Given the description of an element on the screen output the (x, y) to click on. 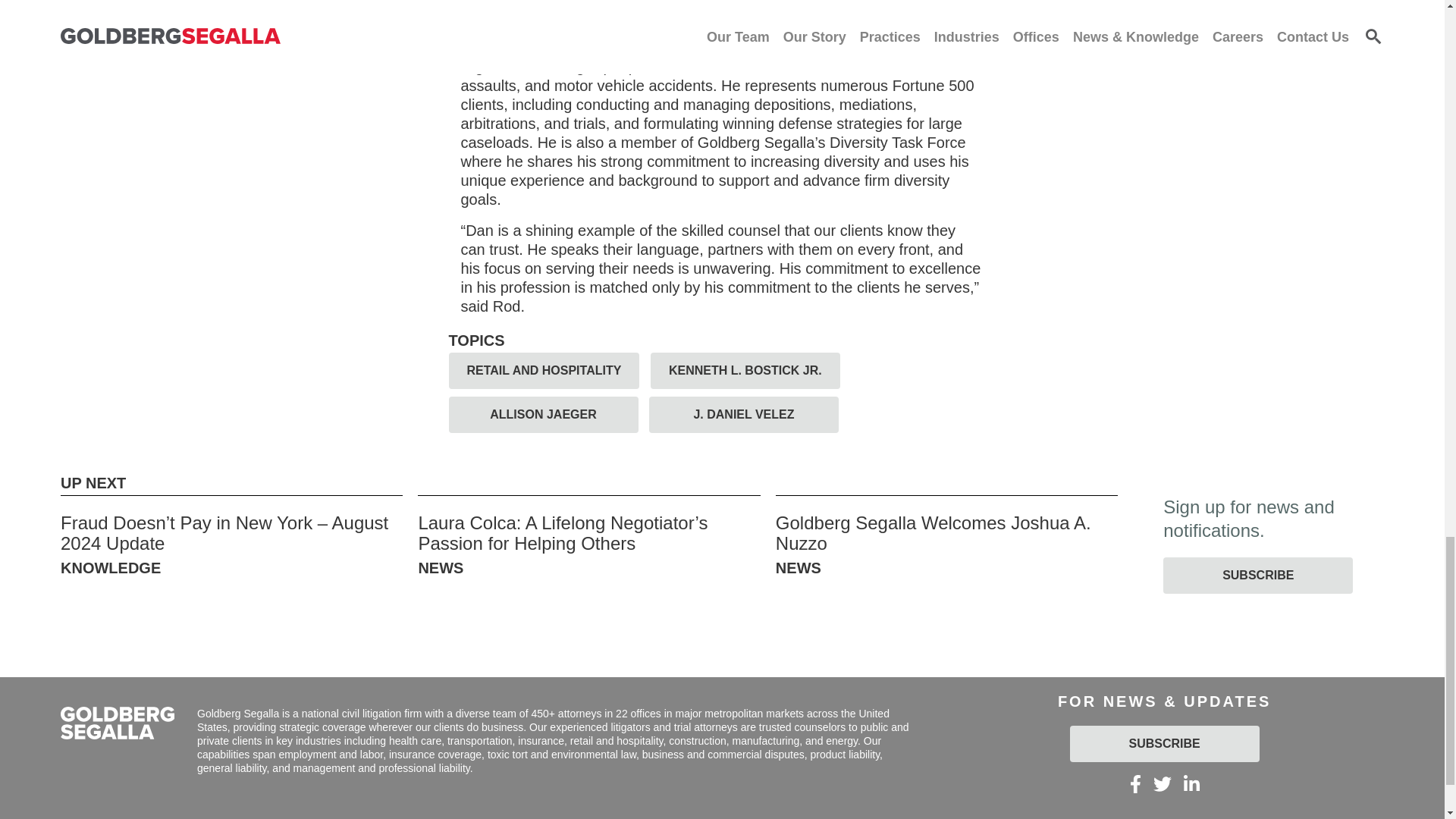
ALLISON JAEGER (543, 414)
KENNETH L. BOSTICK JR. (745, 370)
J. DANIEL VELEZ (743, 414)
Rod Janis (598, 2)
RETAIL AND HOSPITALITY (544, 370)
